Given the description of an element on the screen output the (x, y) to click on. 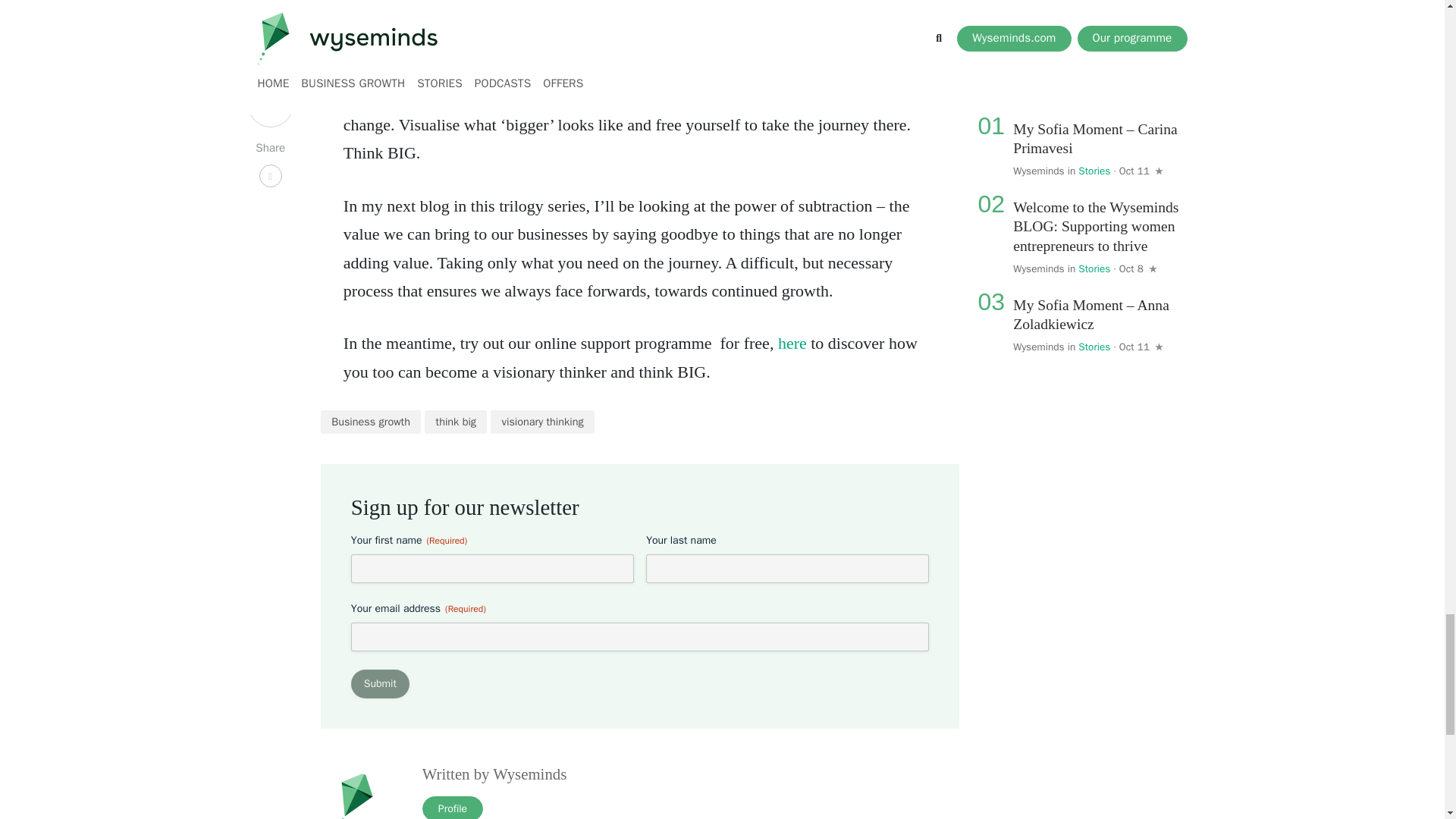
Submit (379, 683)
Profile (452, 807)
here (791, 342)
Submit (379, 683)
visionary thinking (542, 422)
Written by Wyseminds (494, 773)
Business growth (371, 422)
think big (455, 422)
